Given the description of an element on the screen output the (x, y) to click on. 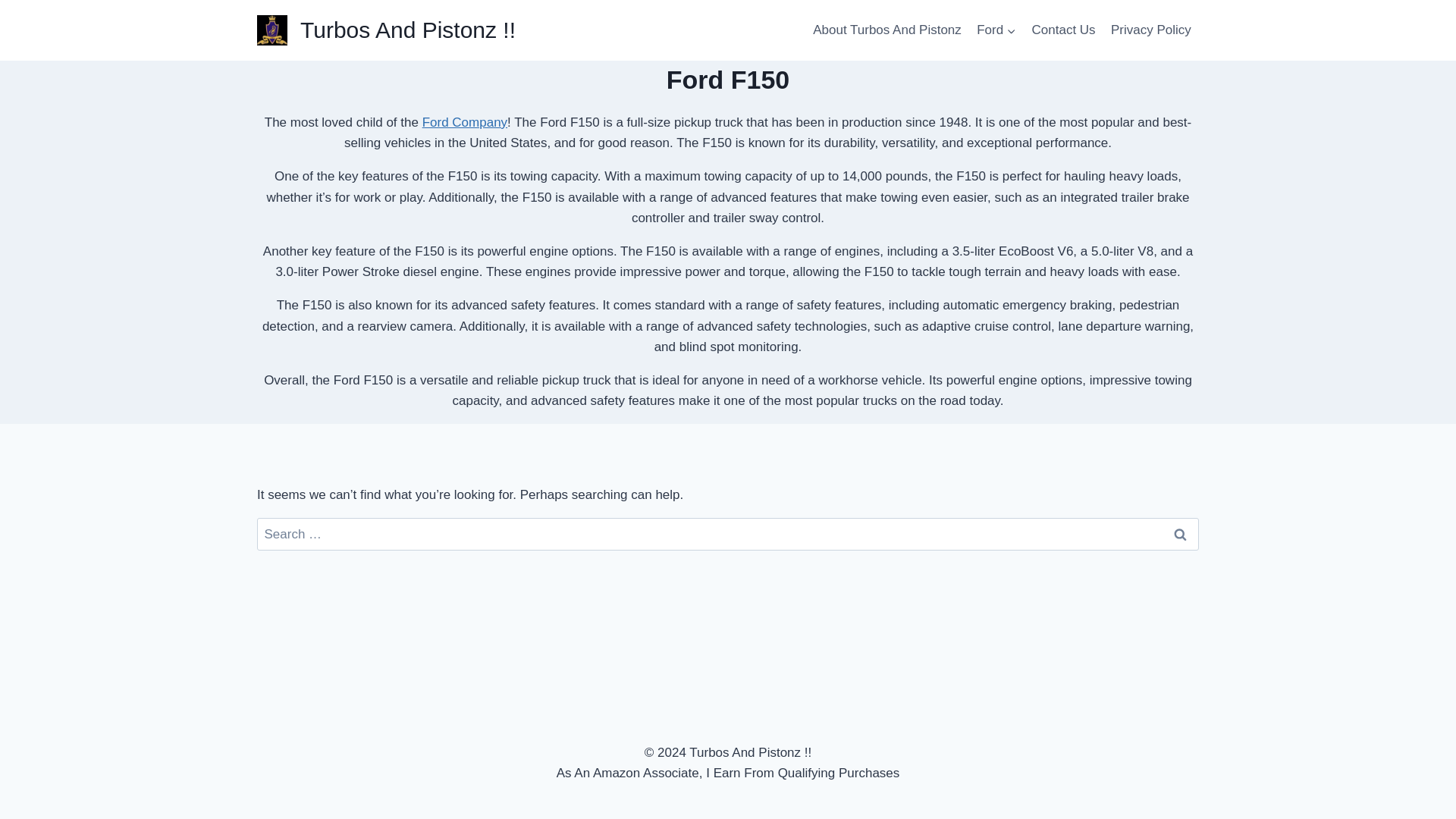
Ford Company (464, 122)
Turbos And Pistonz !! (386, 30)
About Turbos And Pistonz (887, 30)
Search (1179, 533)
Privacy Policy (1150, 30)
Search (1179, 533)
Contact Us (1062, 30)
Ford (996, 30)
Search (1179, 533)
